Given the description of an element on the screen output the (x, y) to click on. 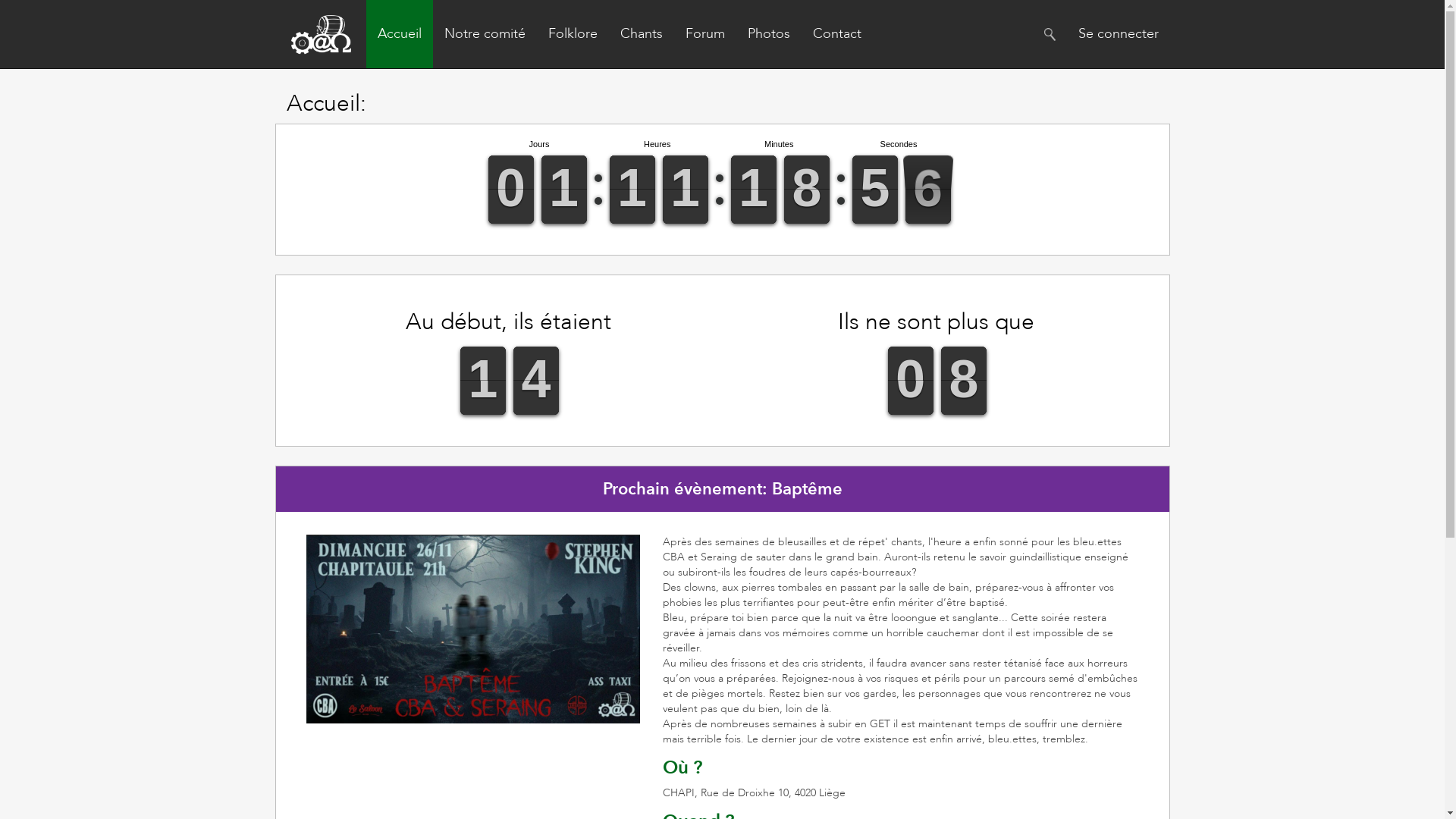
9 Element type: text (909, 380)
0
0 Element type: text (685, 189)
Chants Element type: text (640, 34)
9
9 Element type: text (510, 189)
0
0 Element type: text (632, 189)
1 Element type: text (874, 189)
Accueil Element type: text (398, 34)
Contact Element type: text (836, 34)
7 Element type: text (962, 380)
7 Element type: text (927, 189)
Se connecter Element type: text (1117, 34)
3 Element type: text (535, 380)
1 Element type: text (482, 380)
Forum Element type: text (704, 34)
0
0 Element type: text (806, 189)
0
0 Element type: text (753, 189)
Folklore Element type: text (572, 34)
0
0 Element type: text (563, 189)
Photos Element type: text (767, 34)
